Given the description of an element on the screen output the (x, y) to click on. 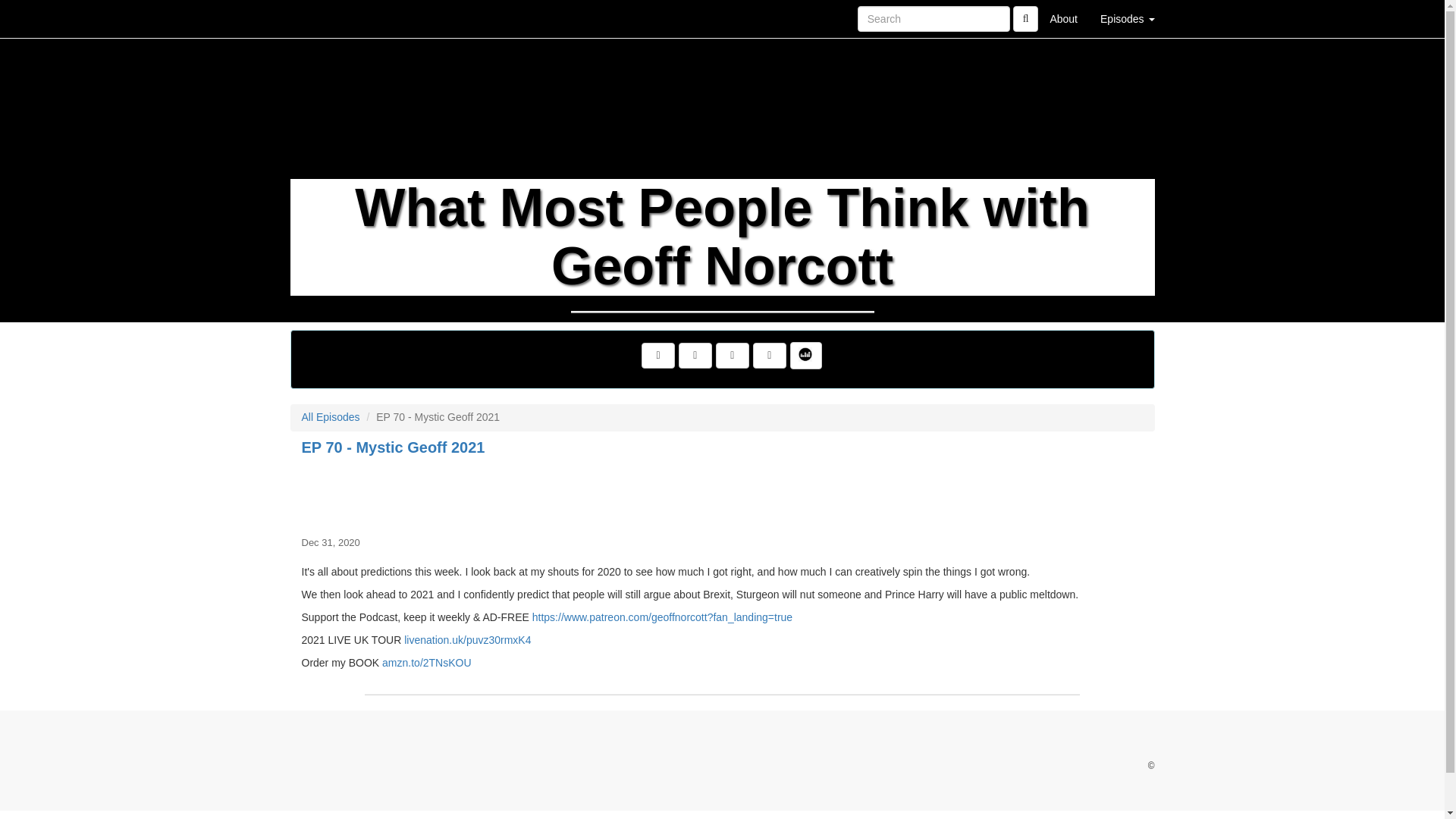
Episodes (1127, 18)
Email This Podcast (732, 355)
EP 70 - Mystic Geoff 2021 (721, 493)
Visit Us on Facebook (658, 355)
About (1063, 18)
Home Page (320, 18)
Visit Us on Twitter (694, 355)
Listen on Deezer (806, 355)
Subscribe to RSS Feed (769, 355)
